Given the description of an element on the screen output the (x, y) to click on. 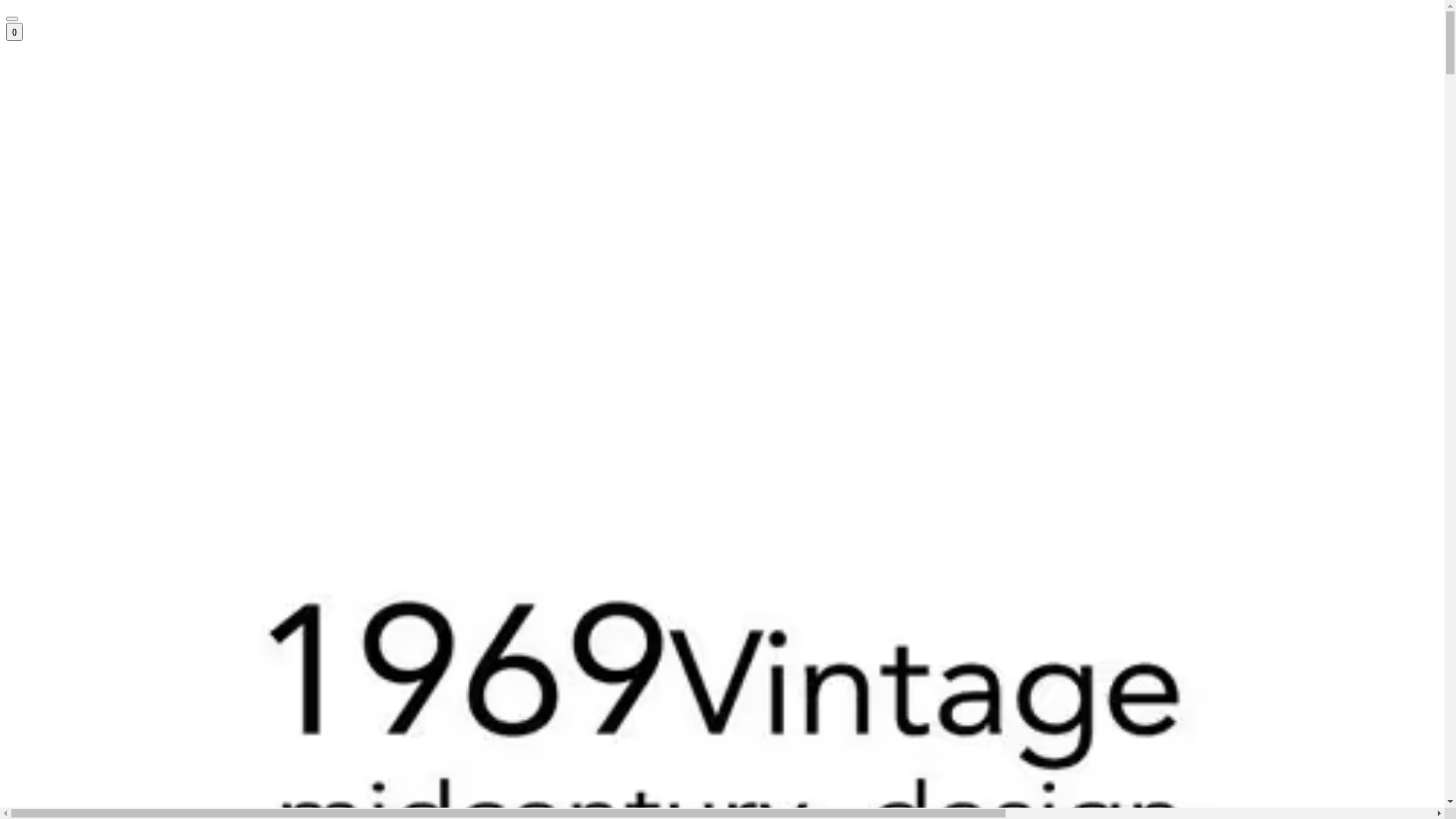
0 Element type: text (14, 31)
